Given the description of an element on the screen output the (x, y) to click on. 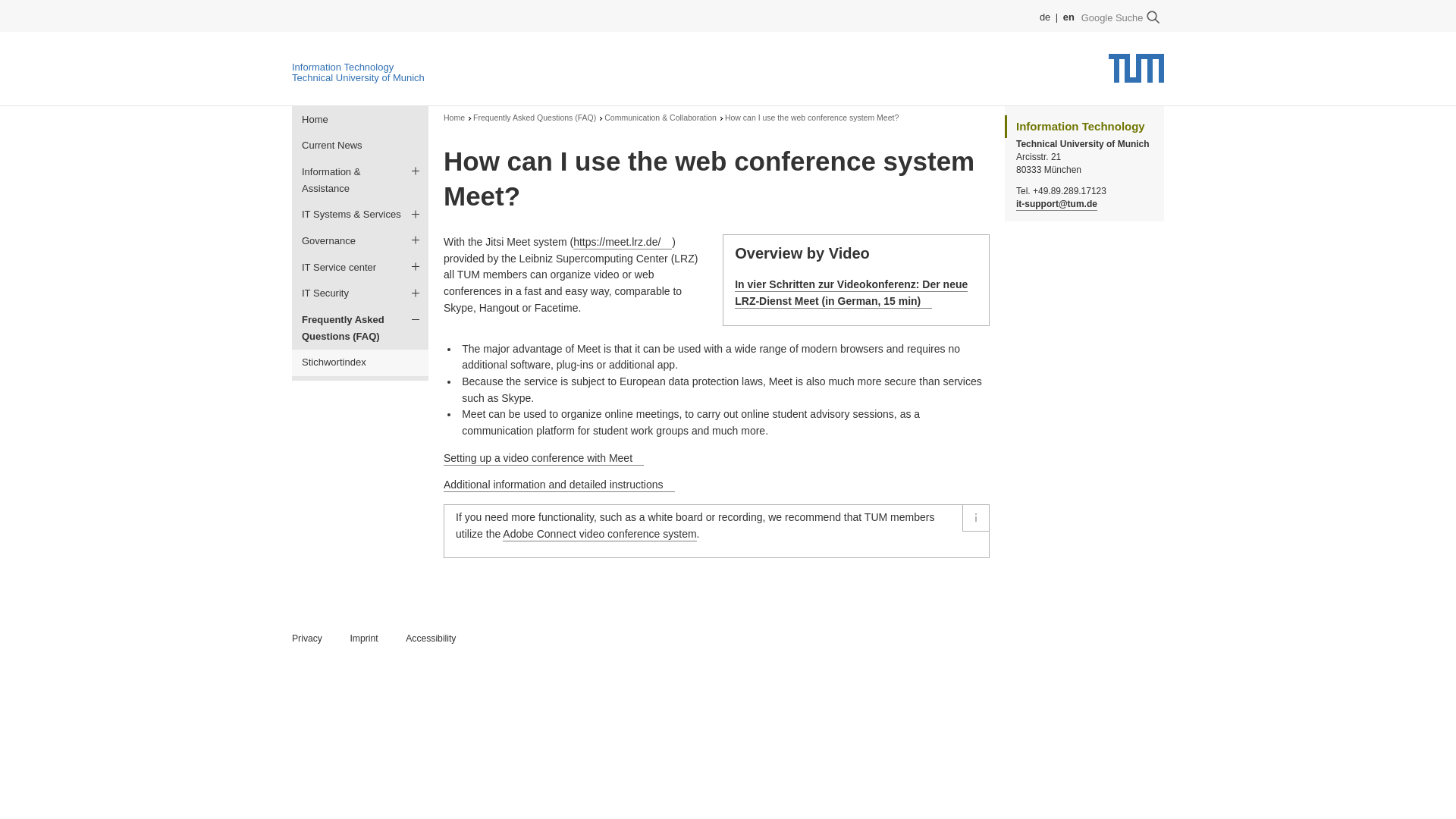
IT Service center (360, 266)
Home www.tum.de (1135, 73)
Current News (360, 145)
Privacy (306, 638)
Deutsch (1044, 16)
English (1068, 16)
Governance (360, 240)
Opens external link in new window (622, 242)
Technical University of Munich (358, 77)
Opens external link in new window (559, 485)
